Given the description of an element on the screen output the (x, y) to click on. 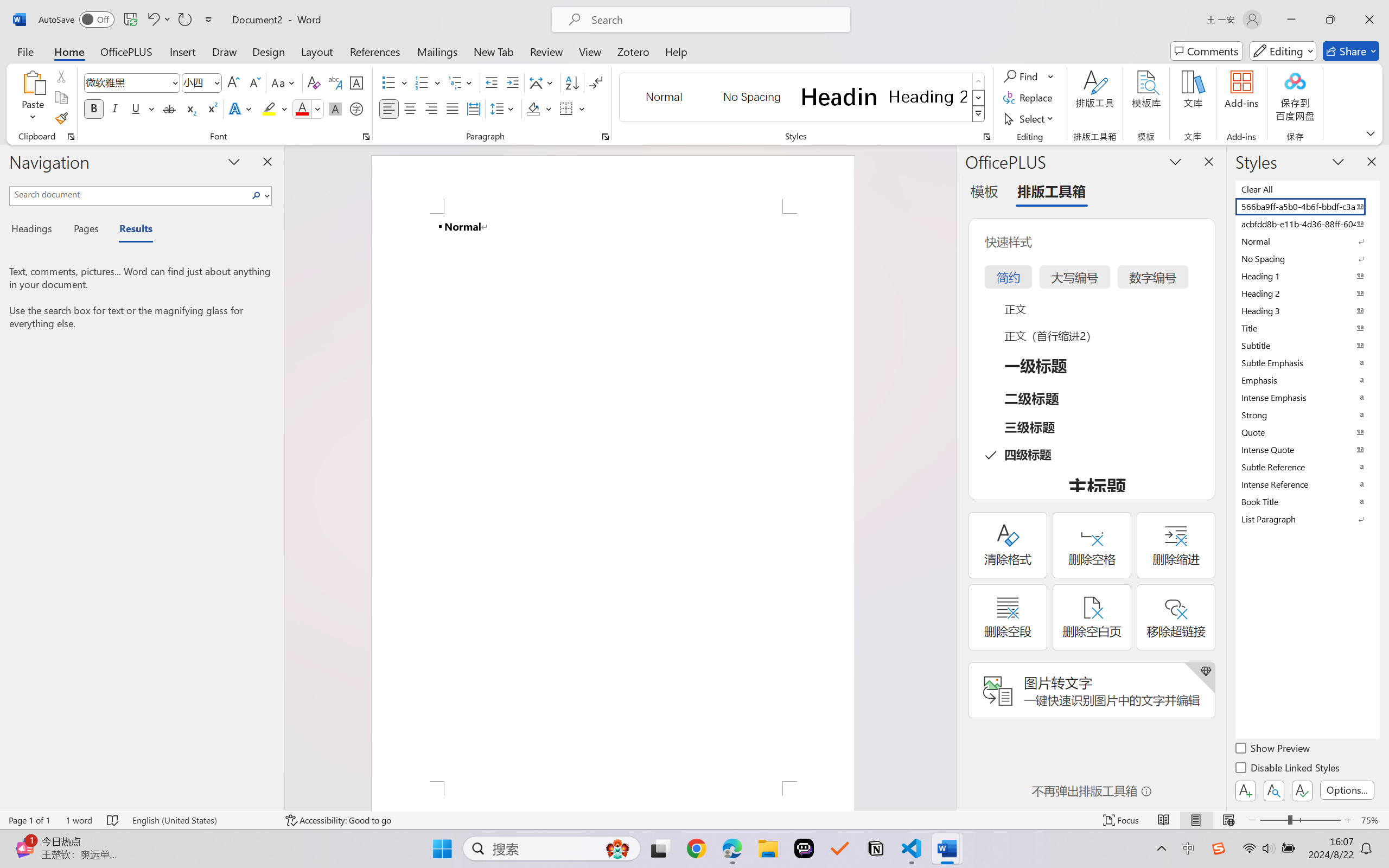
Decrease Indent (491, 82)
Zotero (632, 51)
Subtle Reference (1306, 466)
acbfdd8b-e11b-4d36-88ff-6049b138f862 (1306, 223)
Font... (365, 136)
View (589, 51)
Text Effects and Typography (241, 108)
Normal (1306, 240)
Headings (35, 229)
Asian Layout (542, 82)
Comments (1206, 50)
Zoom (1300, 819)
